Given the description of an element on the screen output the (x, y) to click on. 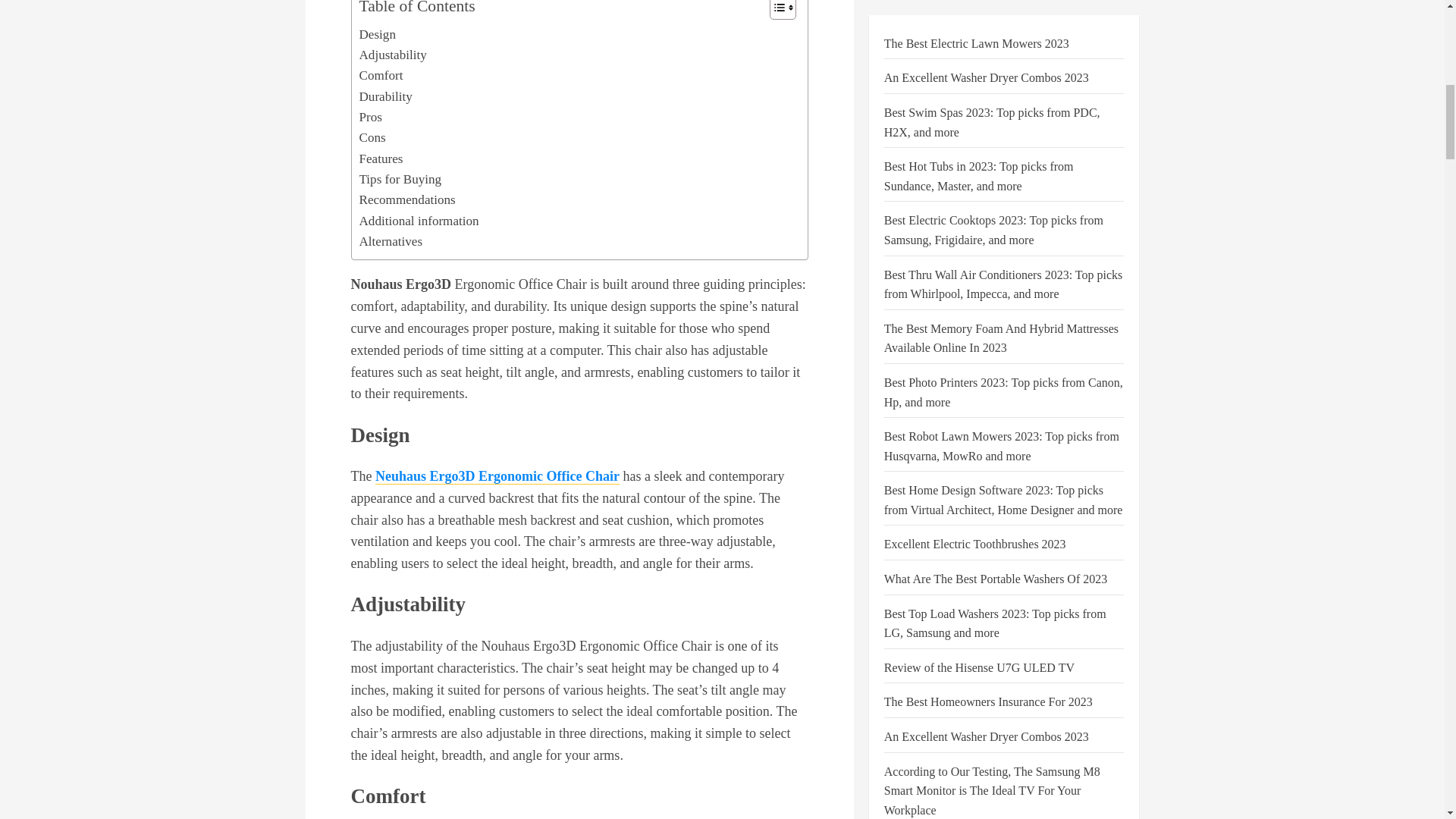
Alternatives (391, 240)
Tips for Buying (400, 178)
Comfort (381, 75)
Durability (385, 96)
Design (377, 34)
Cons (372, 137)
Design (377, 34)
Additional information (419, 220)
Tips for Buying (400, 178)
Neuhaus Ergo3D Ergonomic Office Chair (497, 476)
Recommendations (407, 199)
Pros (370, 117)
Durability (385, 96)
Cons (372, 137)
Features (381, 158)
